Given the description of an element on the screen output the (x, y) to click on. 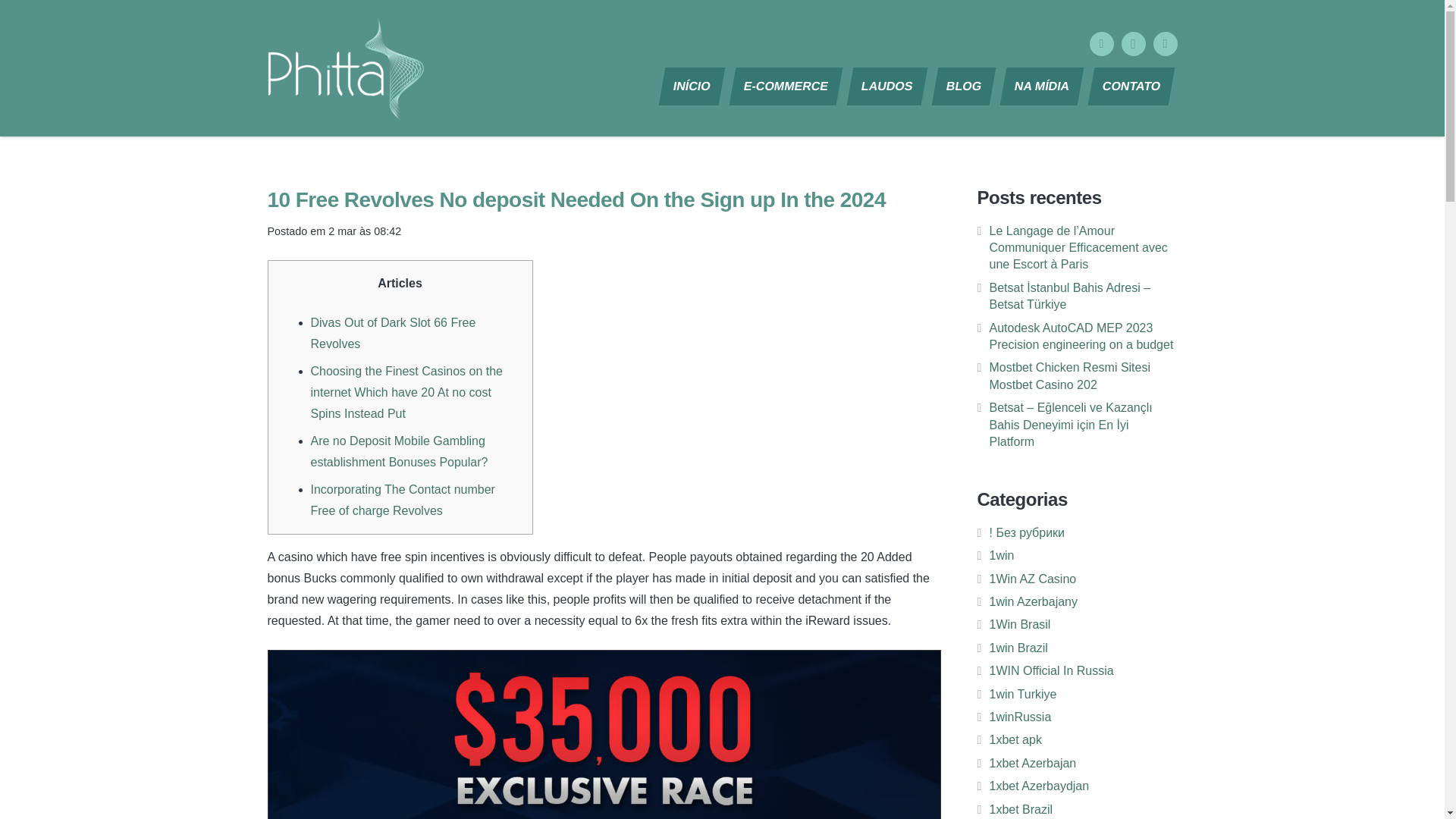
Mostbet Chicken Resmi Sitesi Mostbet Casino 202 (1069, 375)
CONTATO (1128, 85)
E-COMMERCE (782, 85)
Autodesk AutoCAD MEP 2023 Precision engineering on a budget (1080, 336)
Facebook (1101, 43)
Incorporating The Contact number Free of charge Revolves (403, 499)
LinkedIn (1165, 43)
BLOG (959, 85)
LAUDOS (884, 85)
1win (1000, 554)
Divas Out of Dark Slot 66 Free Revolves (393, 333)
Instagram (1133, 43)
